Given the description of an element on the screen output the (x, y) to click on. 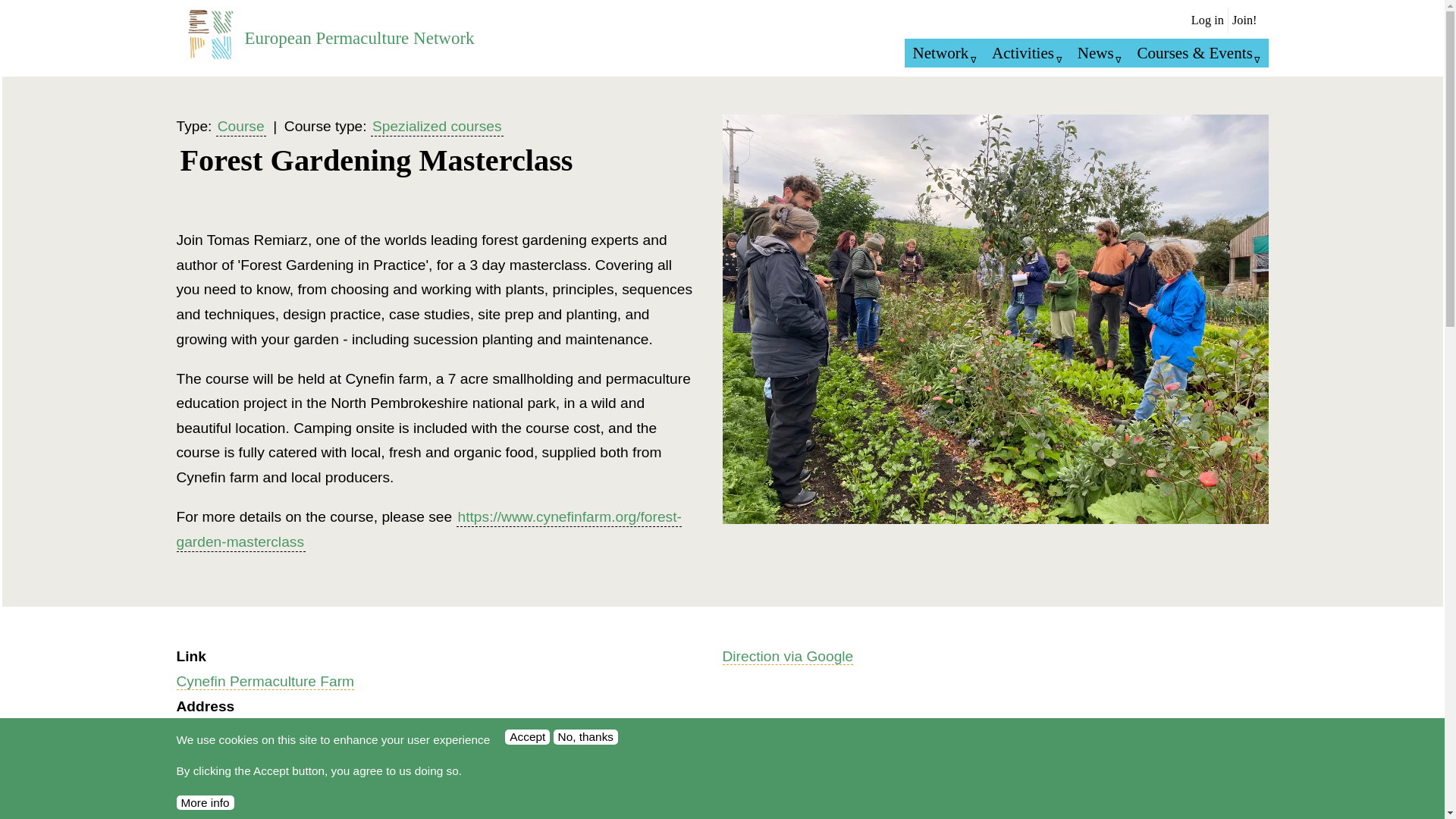
News (1099, 52)
Join! (1244, 19)
Activities (1027, 52)
European Permaculture Network (359, 37)
Network (944, 52)
Log in (1207, 19)
